Given the description of an element on the screen output the (x, y) to click on. 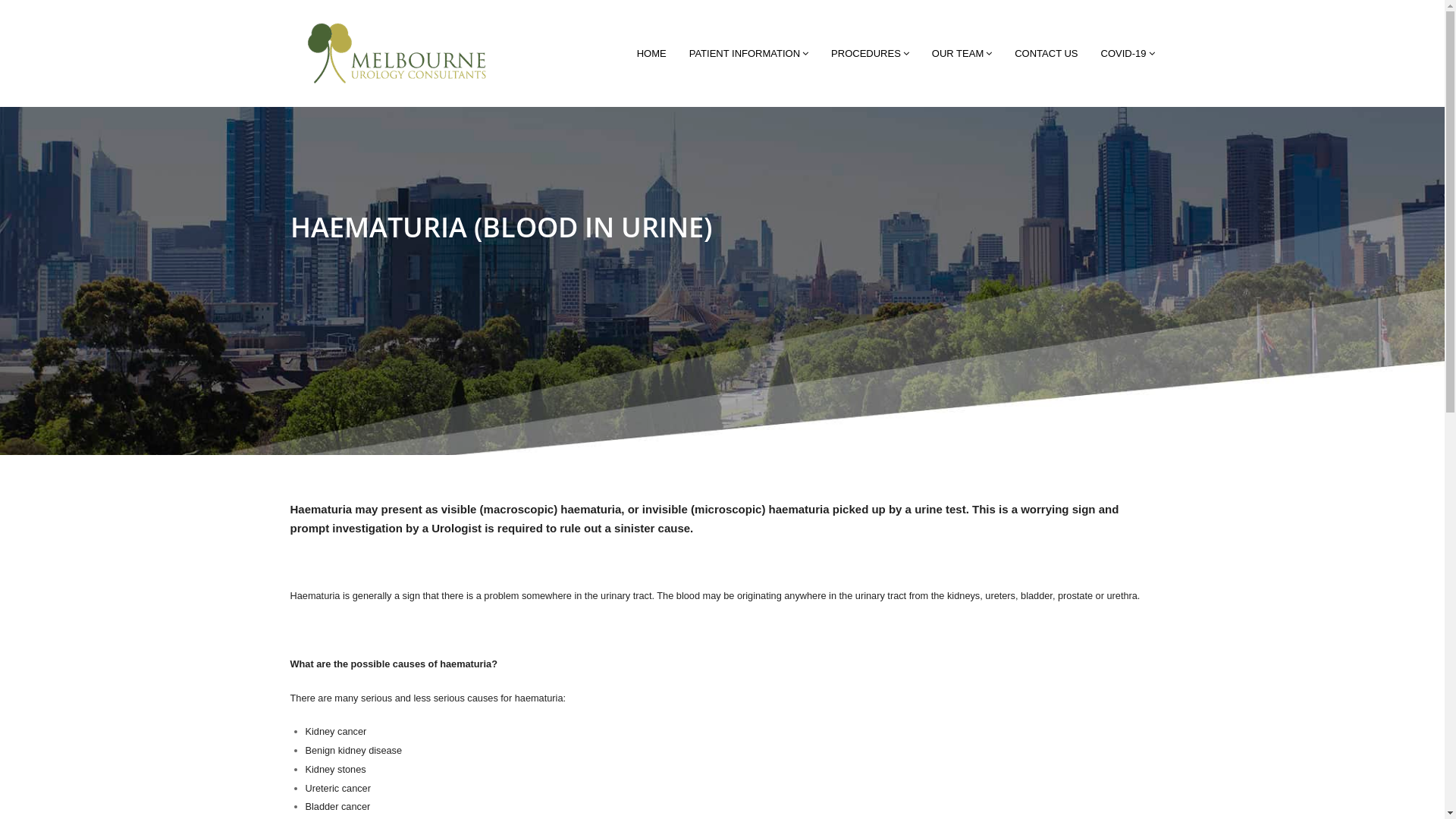
CONTACT US Element type: text (1045, 53)
COVID-19 Element type: text (1127, 53)
PROCEDURES Element type: text (870, 53)
OUR TEAM Element type: text (961, 53)
PATIENT INFORMATION Element type: text (748, 53)
HOME Element type: text (651, 53)
